Given the description of an element on the screen output the (x, y) to click on. 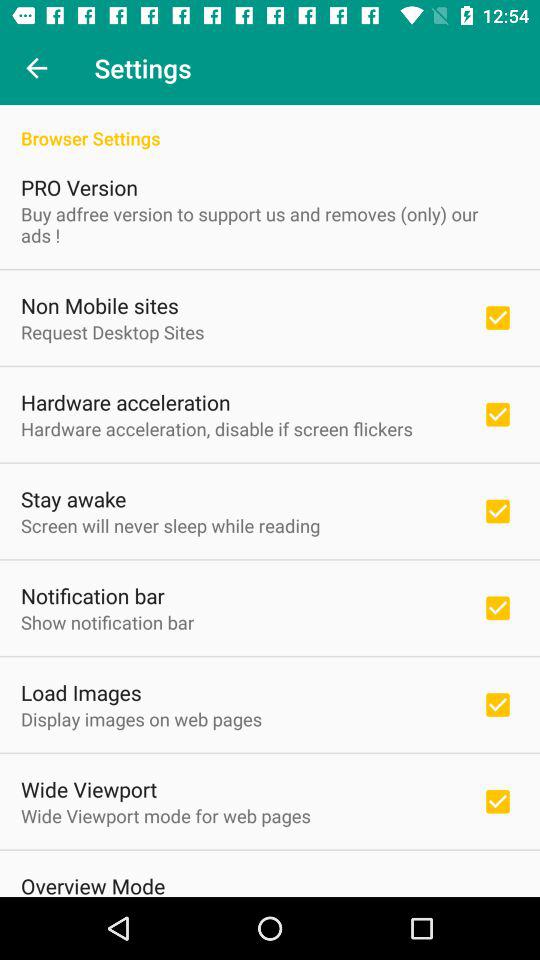
turn on the stay awake item (73, 498)
